Given the description of an element on the screen output the (x, y) to click on. 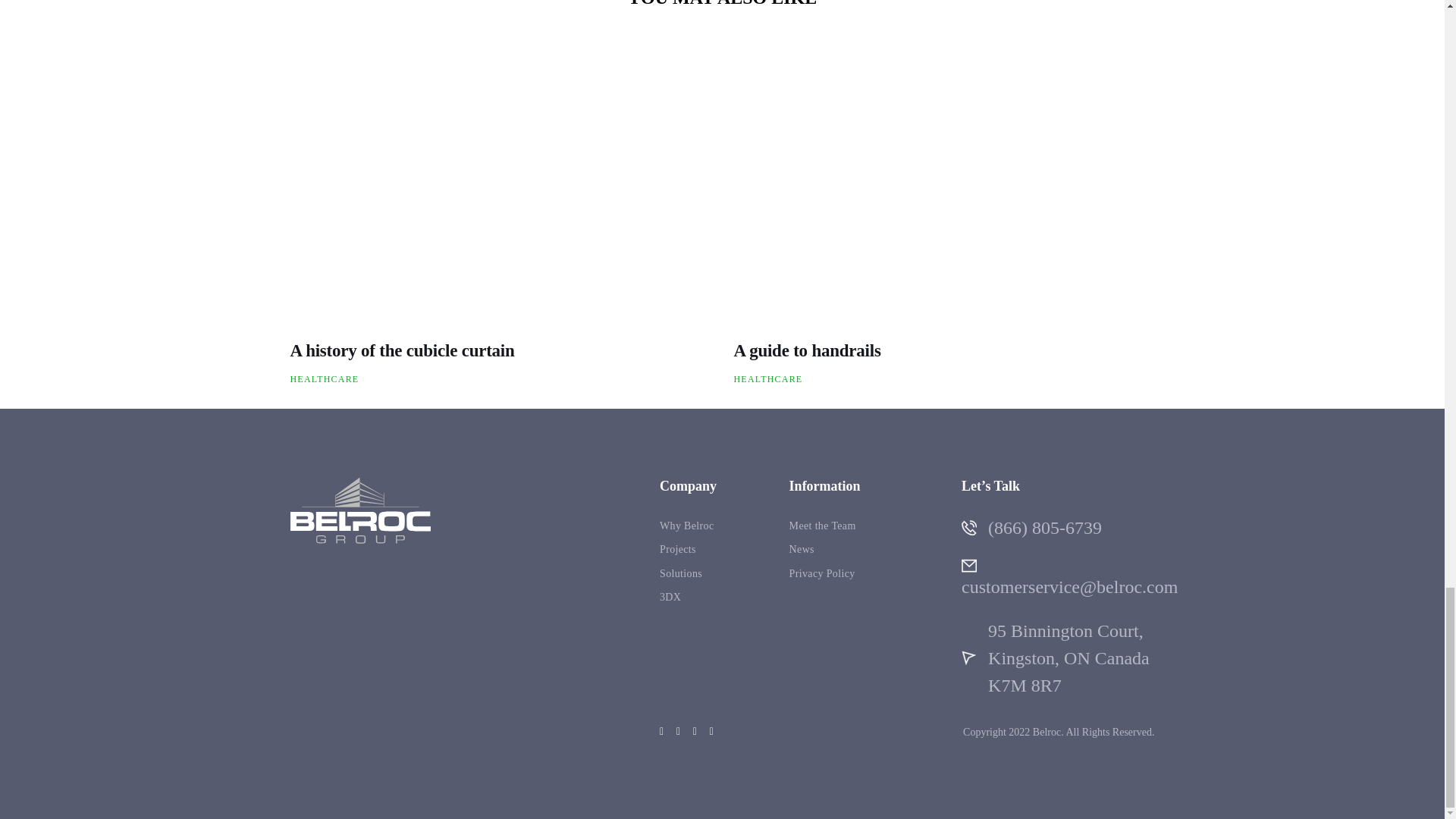
logo-belroc-group (359, 509)
